Given the description of an element on the screen output the (x, y) to click on. 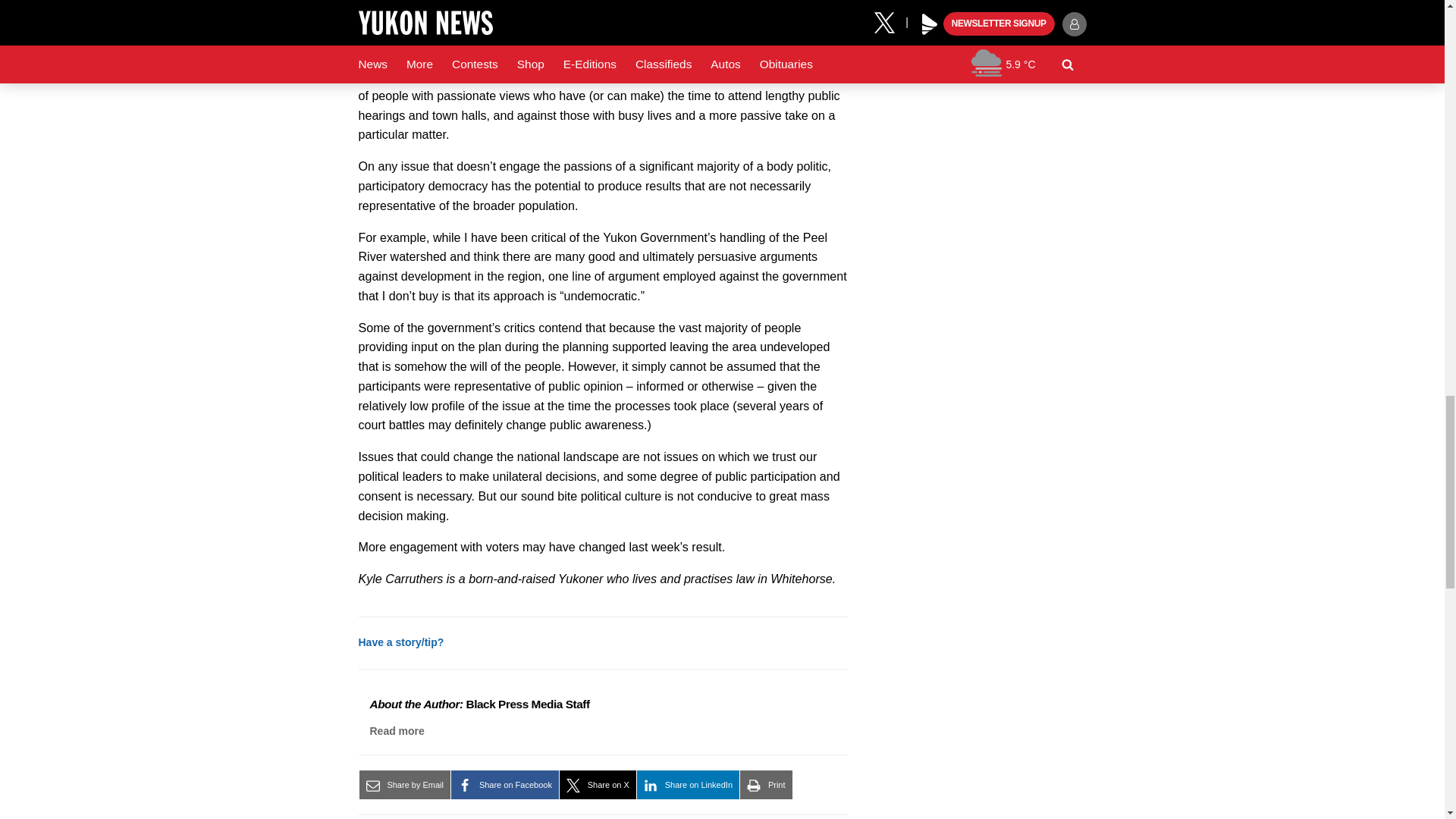
3rd party ad content (972, 37)
